Given the description of an element on the screen output the (x, y) to click on. 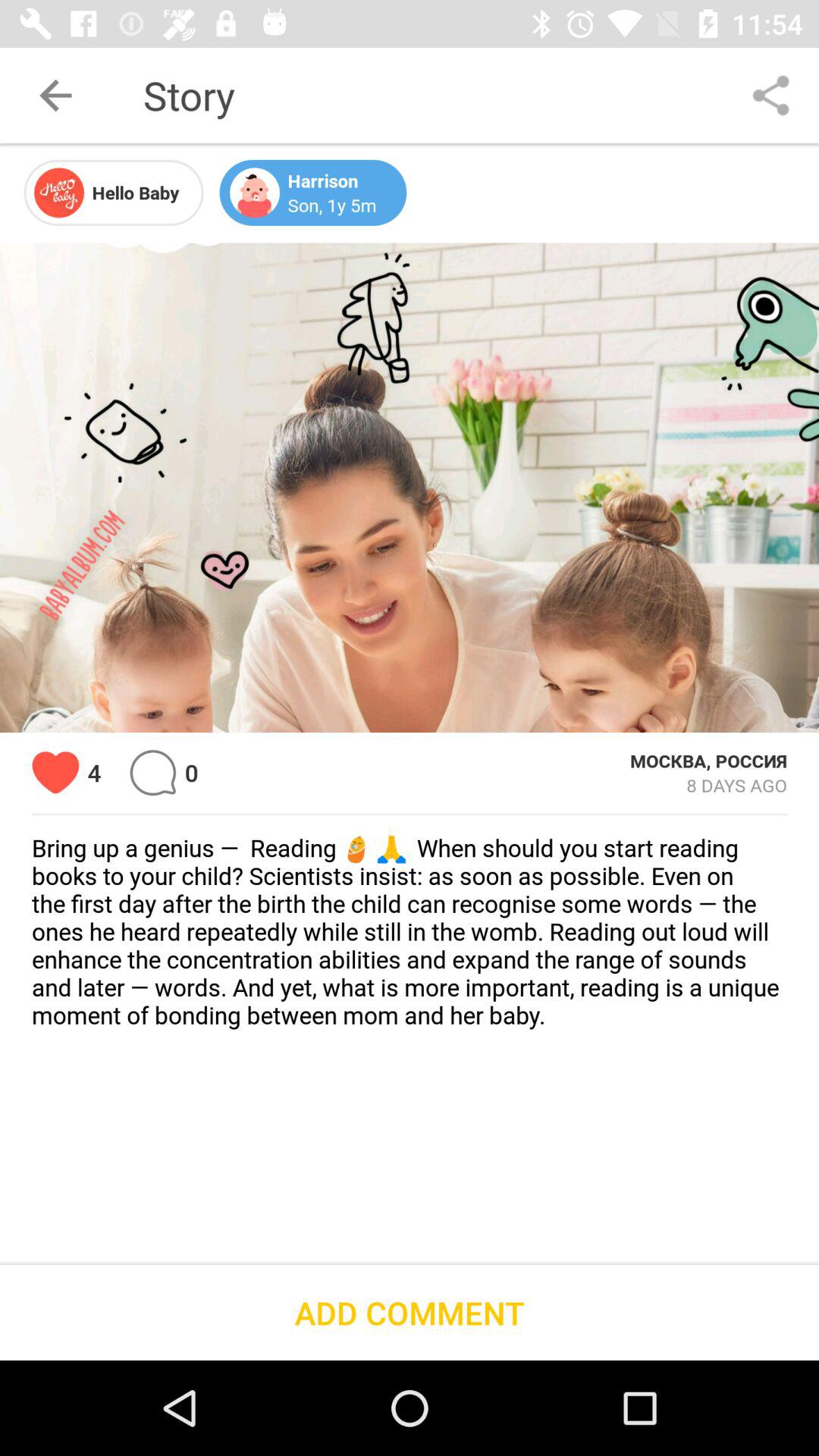
insert a comment (152, 772)
